Given the description of an element on the screen output the (x, y) to click on. 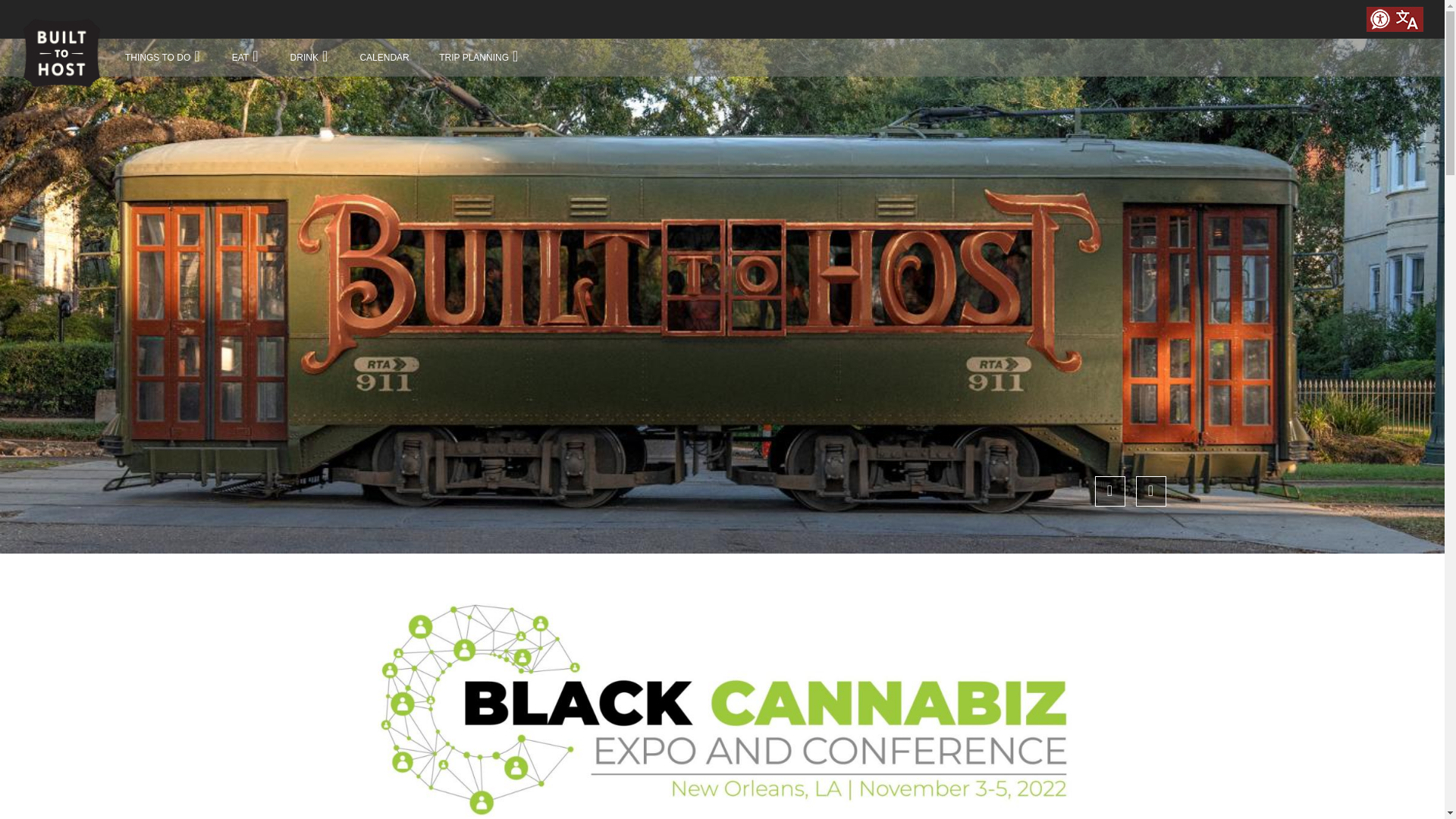
TRIP PLANNING (475, 57)
THINGS TO DO (159, 57)
CALENDAR (385, 57)
